Given the description of an element on the screen output the (x, y) to click on. 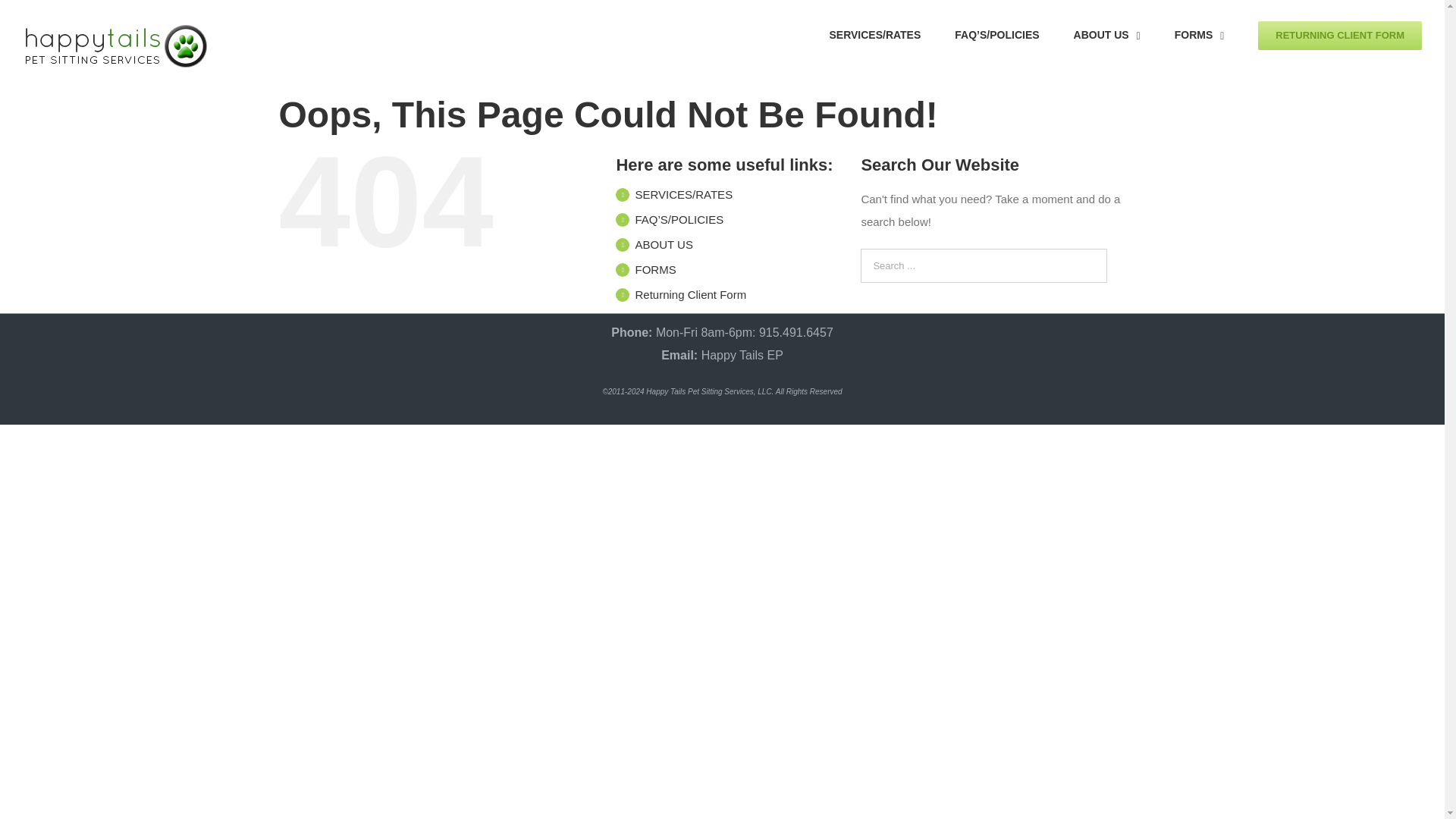
FORMS (654, 269)
RETURNING CLIENT FORM (1339, 33)
ABOUT US (663, 244)
Returning Client Form (689, 294)
Happy Tails EP (742, 354)
ABOUT US (1107, 33)
